Given the description of an element on the screen output the (x, y) to click on. 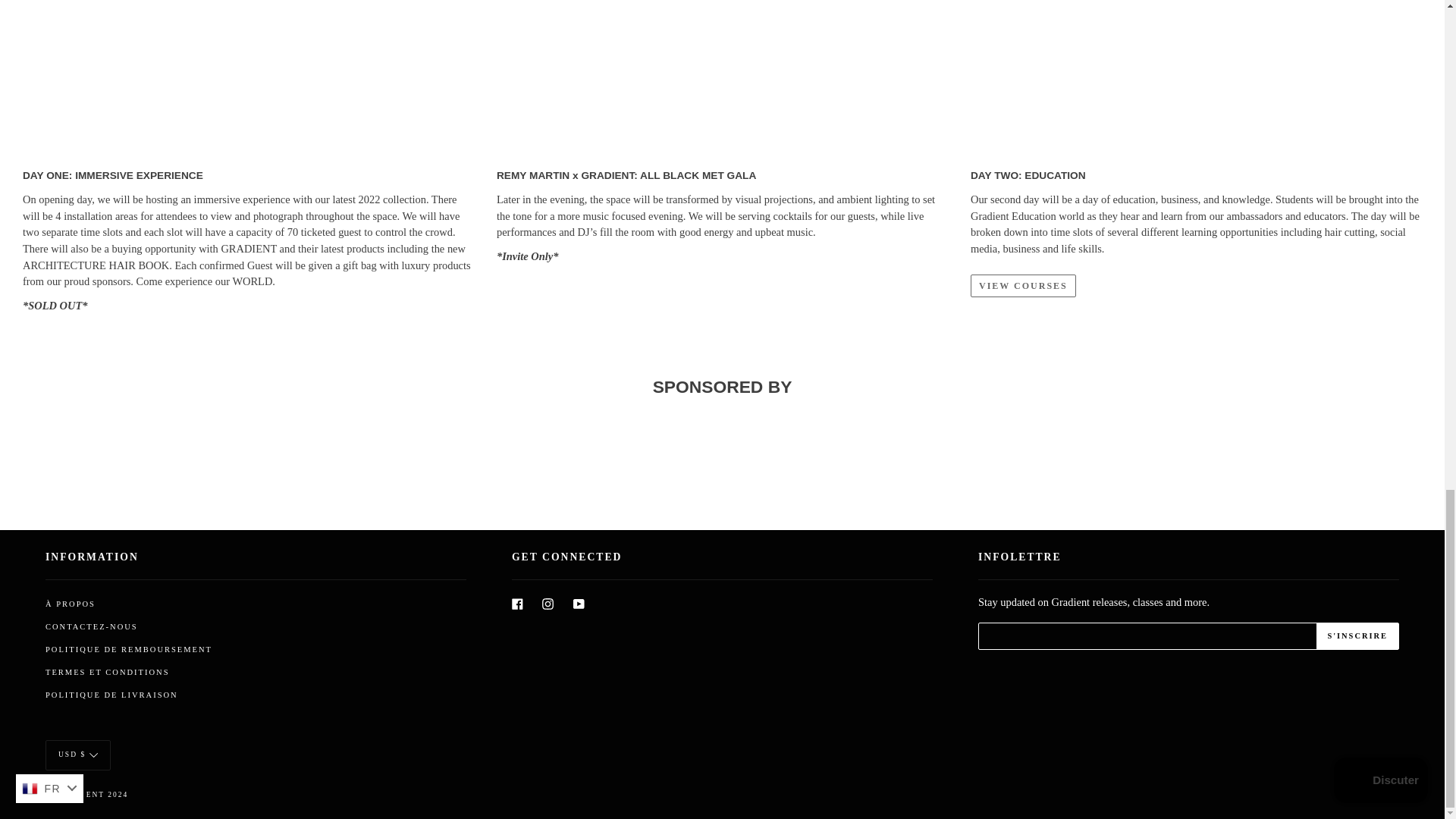
GRADIENT sur Instagram (547, 602)
GRADIENT sur YouTube (579, 602)
Instagram (547, 602)
TERMES ET CONDITIONS (106, 671)
S'inscrire (1356, 635)
S'inscrire (1356, 635)
POLITIQUE DE REMBOURSEMENT (128, 649)
VIEW COURSES (1023, 285)
CONTACTEZ-NOUS (91, 626)
POLITIQUE DE LIVRAISON (111, 694)
